Given the description of an element on the screen output the (x, y) to click on. 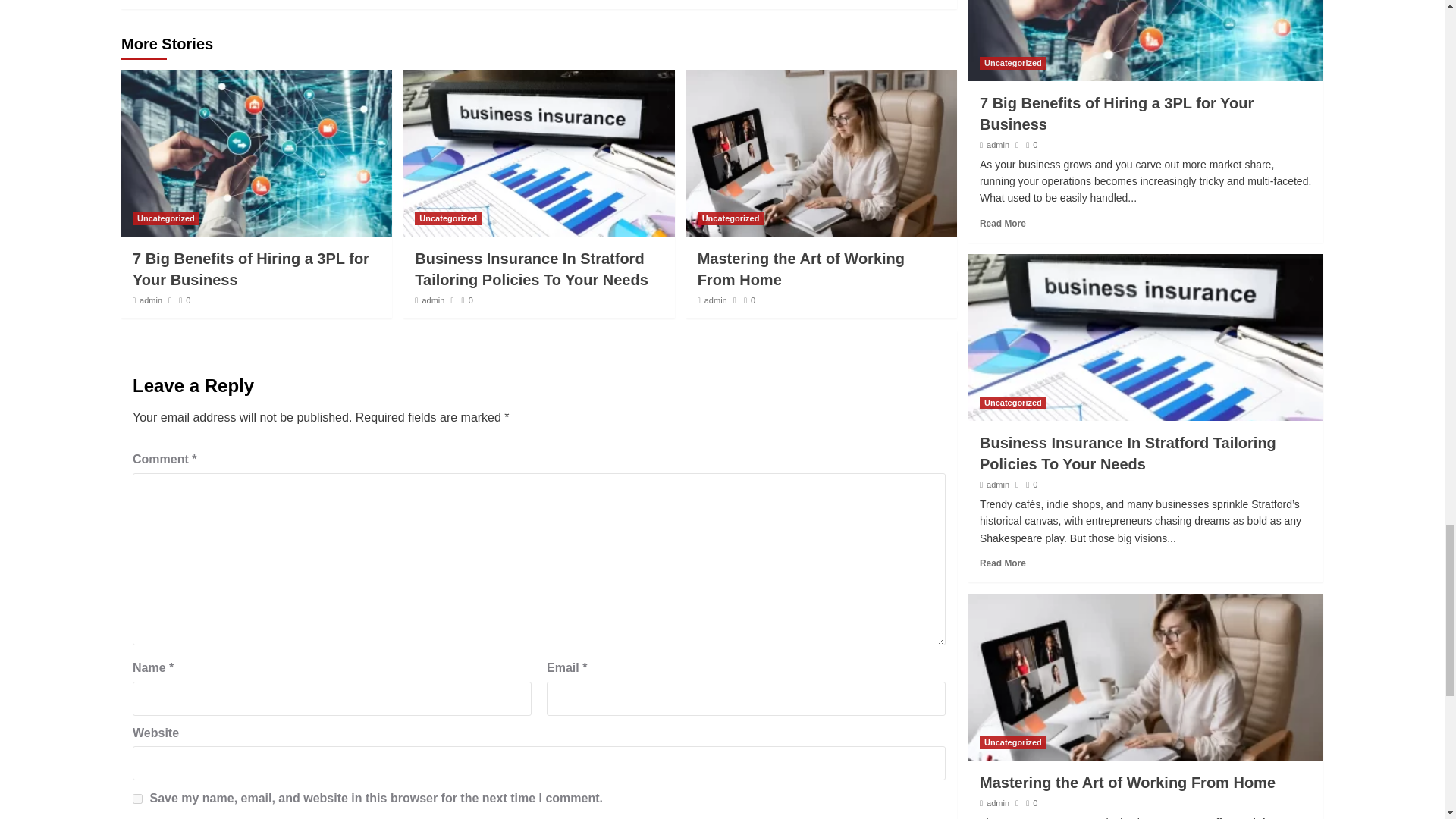
7 Big Benefits of Hiring a 3PL for Your Business (250, 269)
admin (433, 299)
admin (150, 299)
Uncategorized (165, 218)
Uncategorized (447, 218)
yes (137, 798)
0 (184, 299)
